Given the description of an element on the screen output the (x, y) to click on. 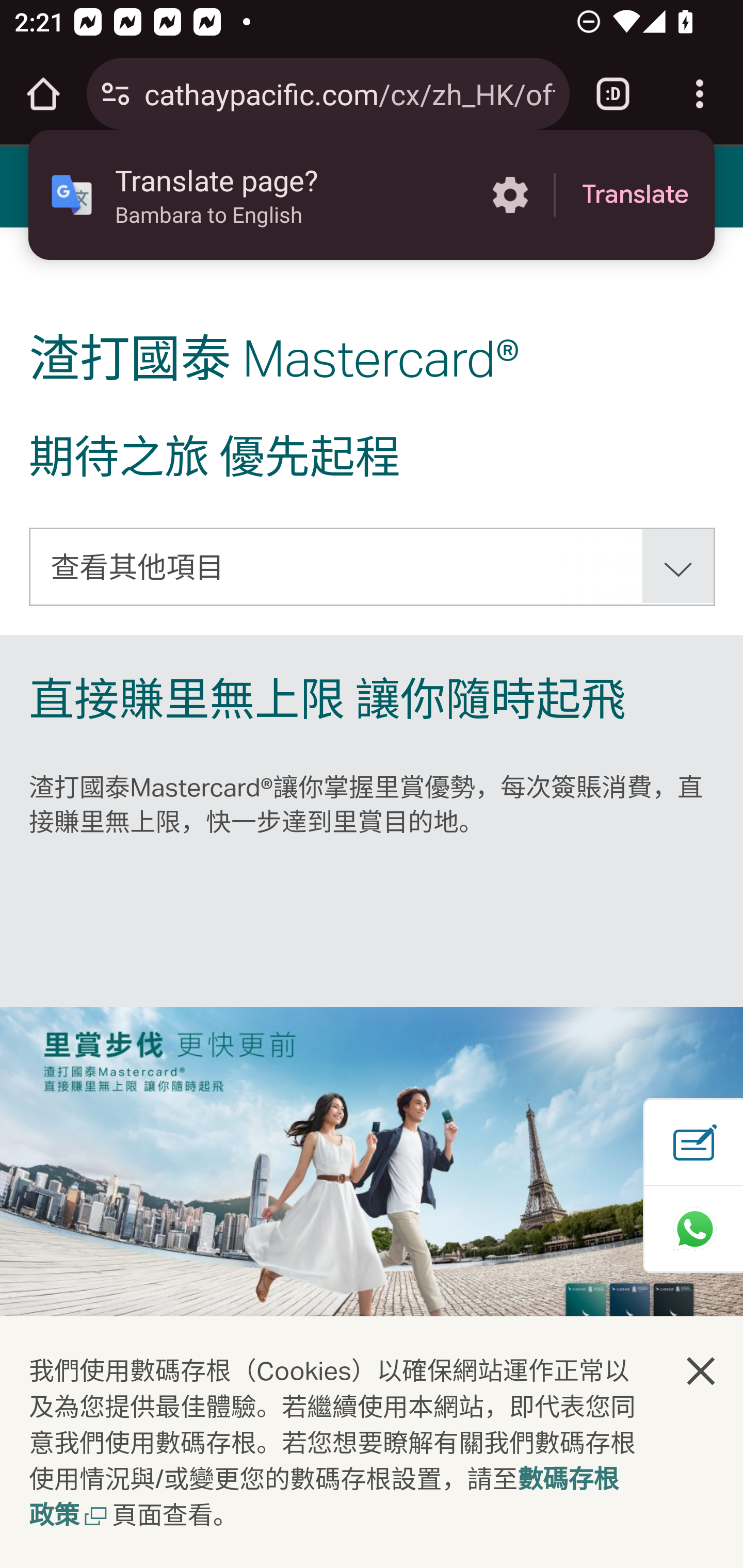
Open the home page (43, 93)
Connection is secure (115, 93)
Switch or close tabs (612, 93)
Customize and control Google Chrome (699, 93)
Translate (634, 195)
功能表 (47, 186)
More options in the Translate page? (509, 195)
查看其他項目 (372, 566)
關閉 (701, 1370)
數碼存根政策, 在新窗口中打开 數碼存根政策 開啟新視窗 (323, 1498)
